Given the description of an element on the screen output the (x, y) to click on. 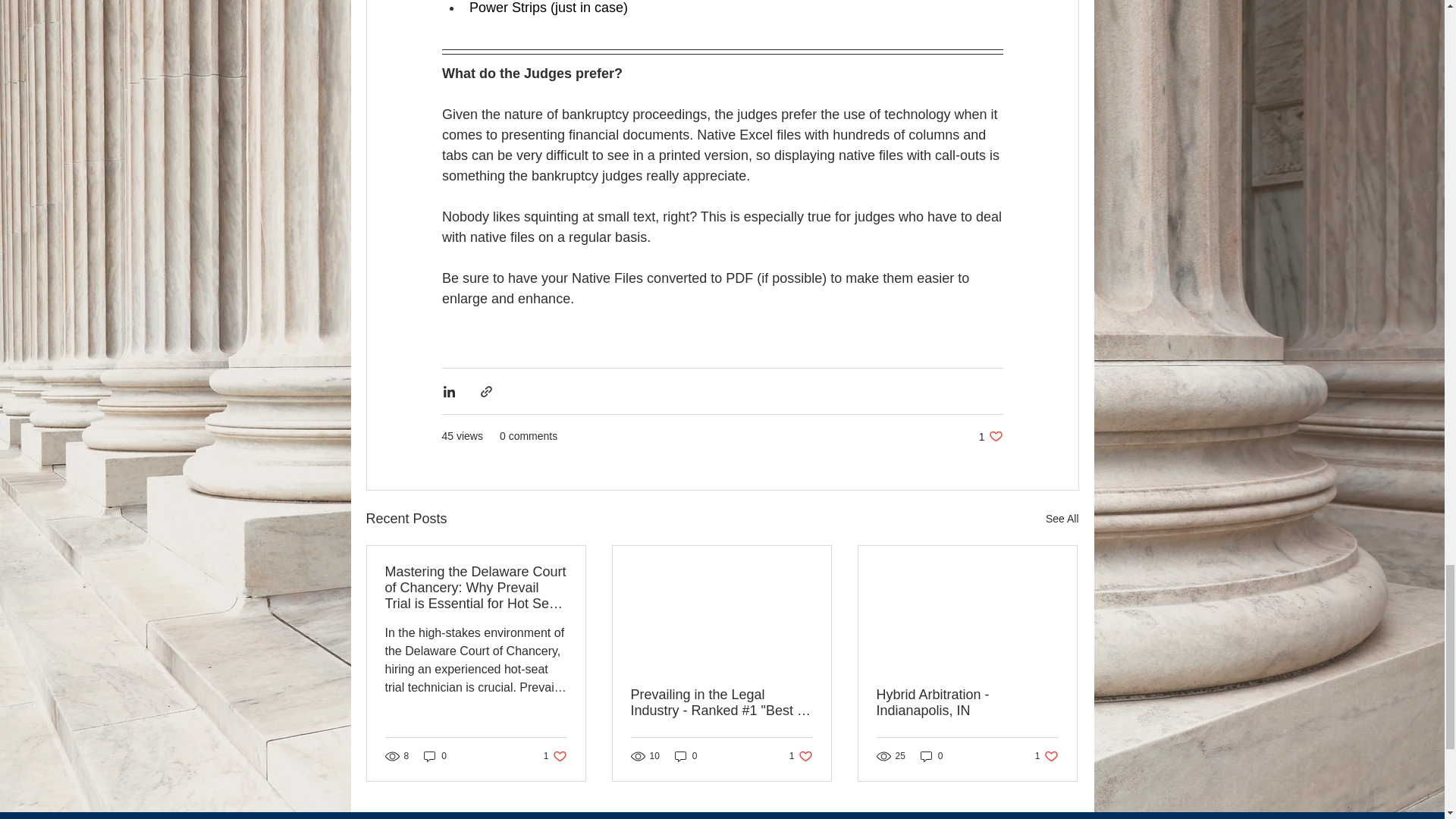
0 (1046, 756)
Hybrid Arbitration - Indianapolis, IN (435, 756)
See All (967, 703)
0 (800, 756)
0 (555, 756)
